Given the description of an element on the screen output the (x, y) to click on. 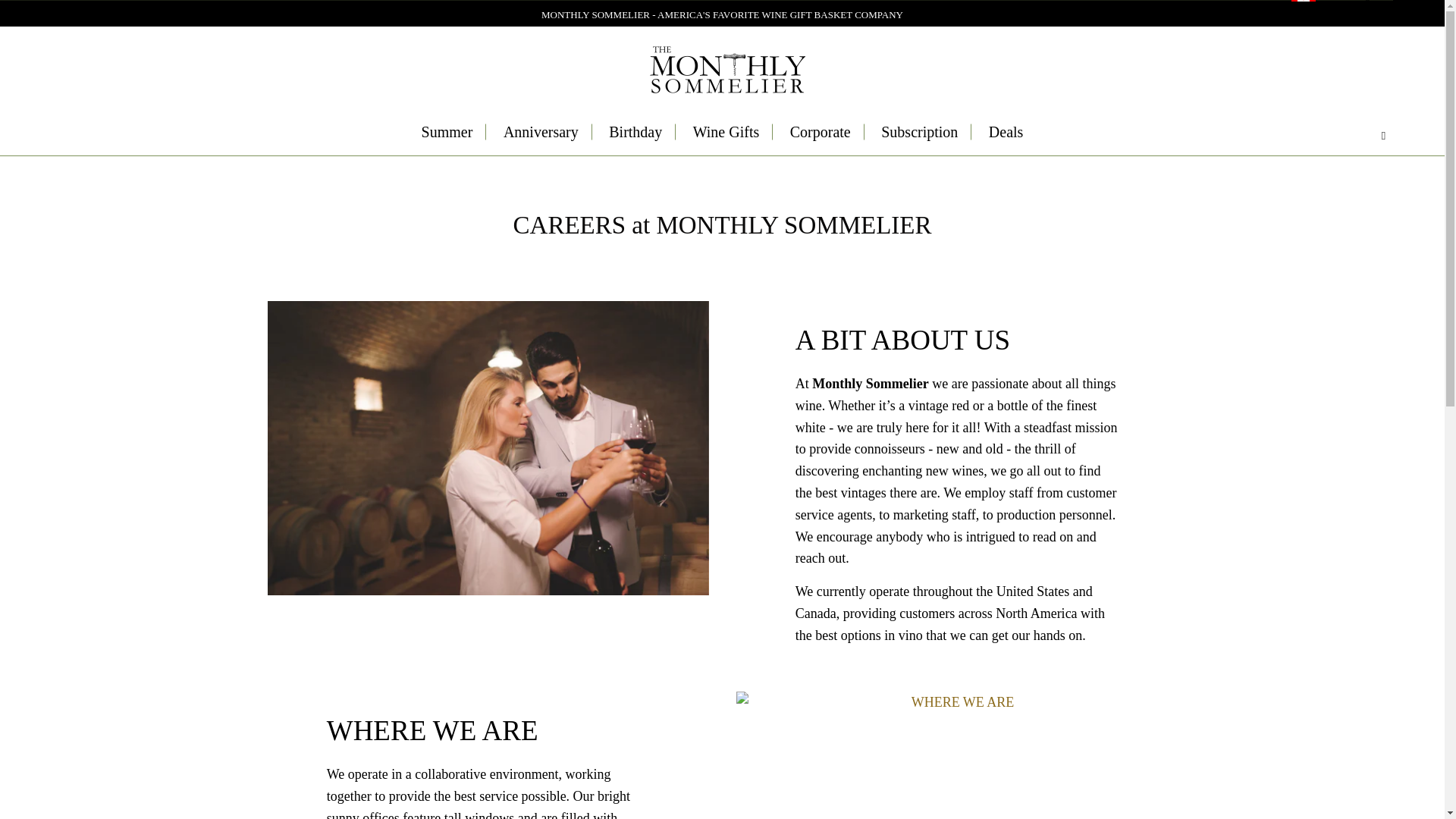
A BIT ABOUT US (486, 448)
My Account  (1357, 5)
Monthly Sommelier USA (727, 71)
WHERE WE ARE (955, 702)
